Given the description of an element on the screen output the (x, y) to click on. 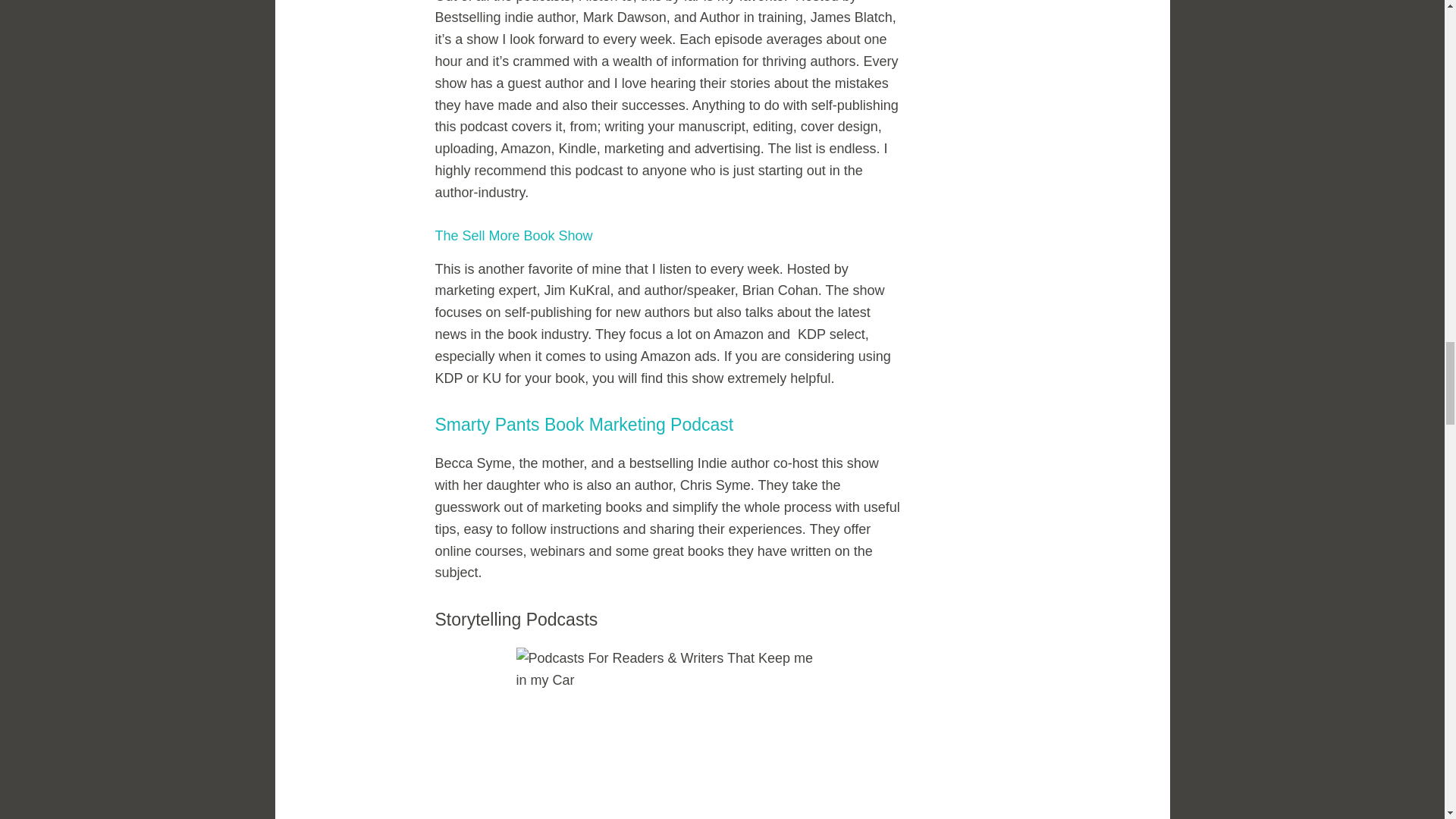
Smarty Pants Book Marketing Podcast (584, 424)
The Sell More Book Show (513, 235)
